Given the description of an element on the screen output the (x, y) to click on. 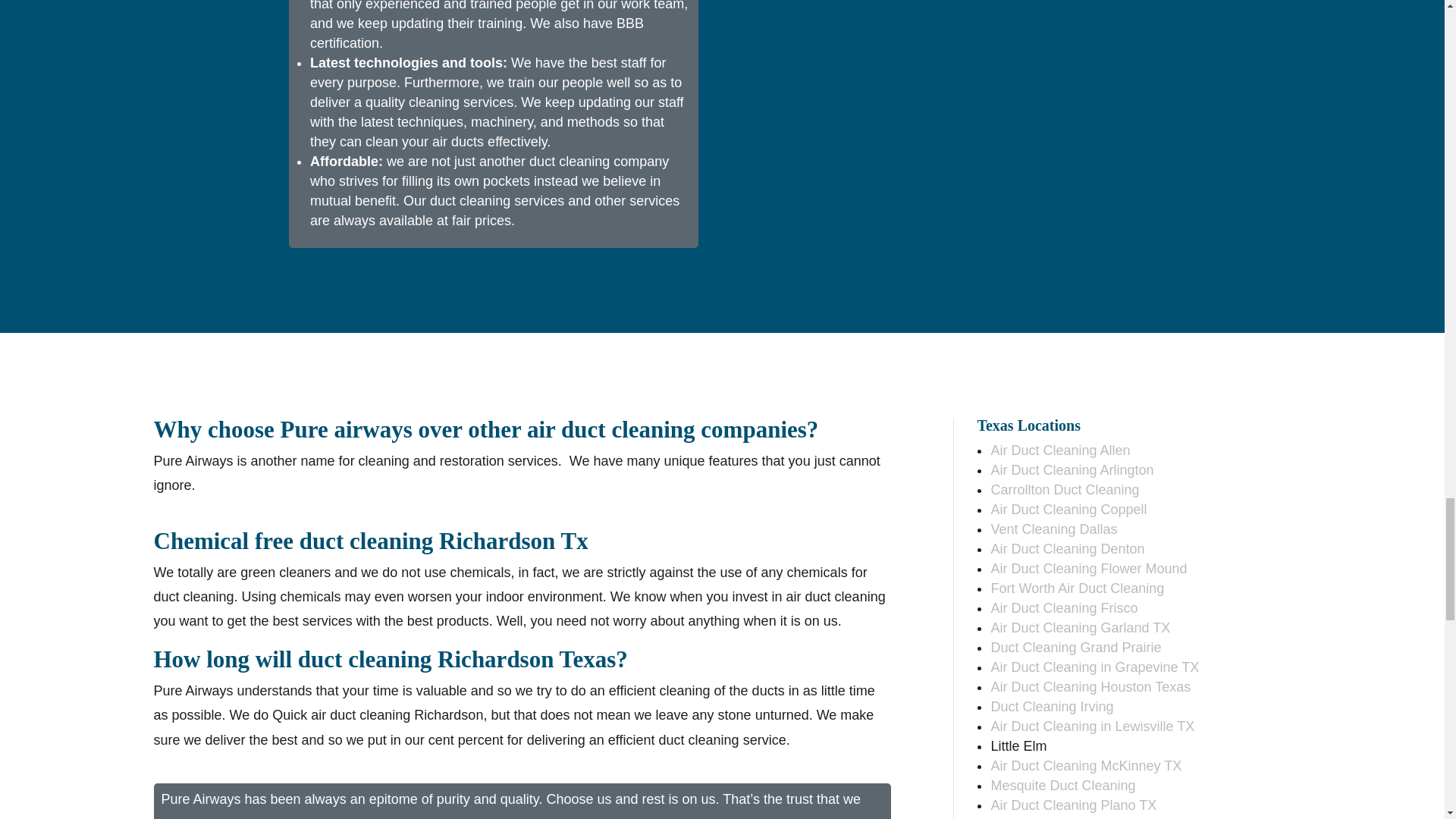
Air Duct Cleaning Garland TX (1080, 627)
Air Duct Cleaning Houston Texas (1090, 686)
Duct Cleaning Irving (1051, 706)
Air Duct Cleaning Coppell (1068, 509)
Air Duct Cleaning Arlington (1071, 469)
Air Duct Cleaning Flower Mound (1088, 568)
Carrollton Duct Cleaning (1064, 489)
Air Duct Cleaning Denton (1067, 548)
Vent Cleaning Dallas (1053, 529)
Fort Worth Air Duct Cleaning (1076, 588)
Duct Cleaning Grand Prairie (1075, 647)
Air Duct Cleaning in Lewisville TX (1091, 726)
Air Duct Cleaning Frisco (1063, 607)
Air Duct Cleaning in Grapevine TX (1094, 667)
Air Duct Cleaning Allen (1059, 450)
